Given the description of an element on the screen output the (x, y) to click on. 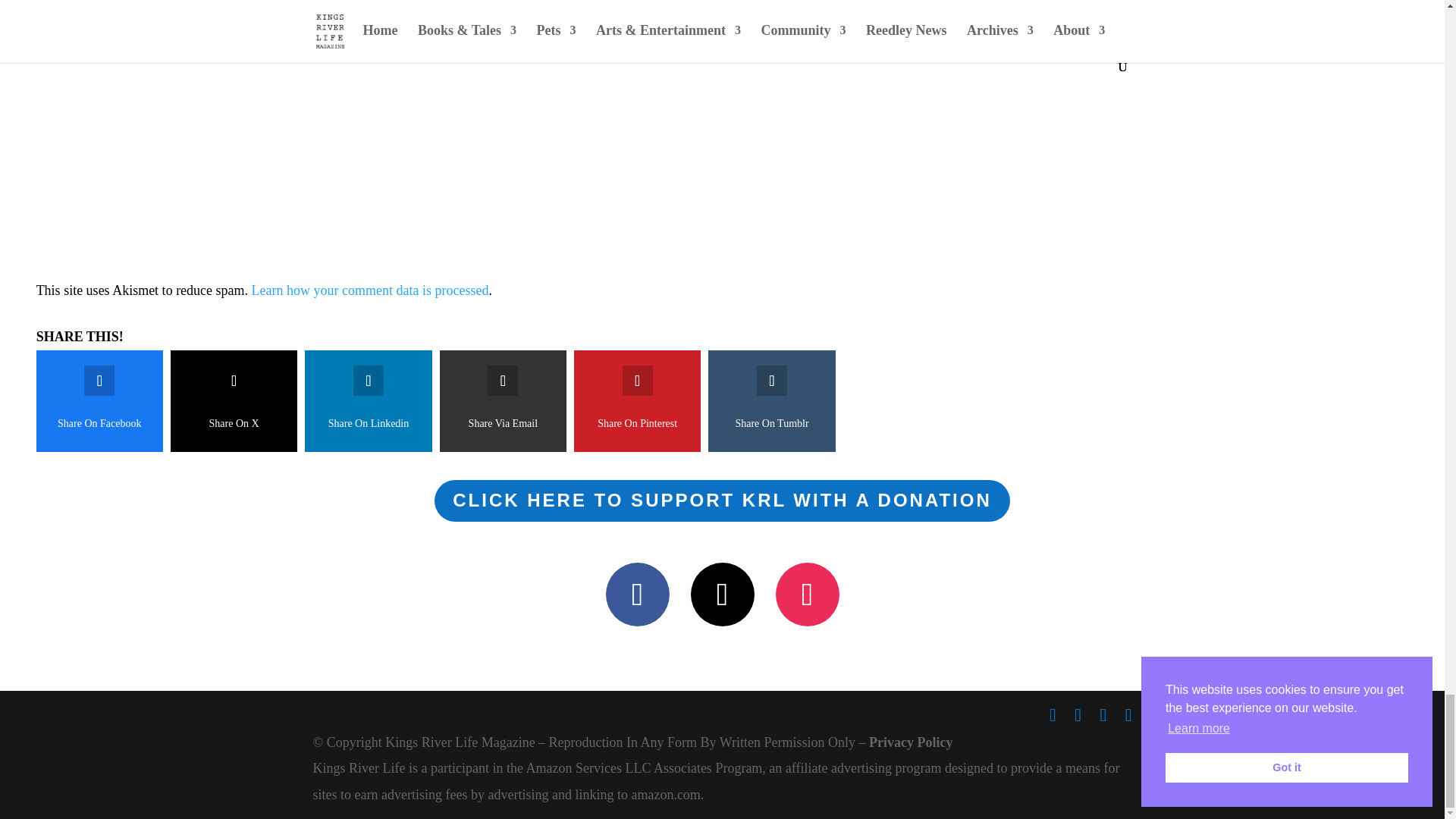
Follow on Facebook (636, 594)
Follow on Instagram (806, 594)
Follow on X (722, 594)
